Given the description of an element on the screen output the (x, y) to click on. 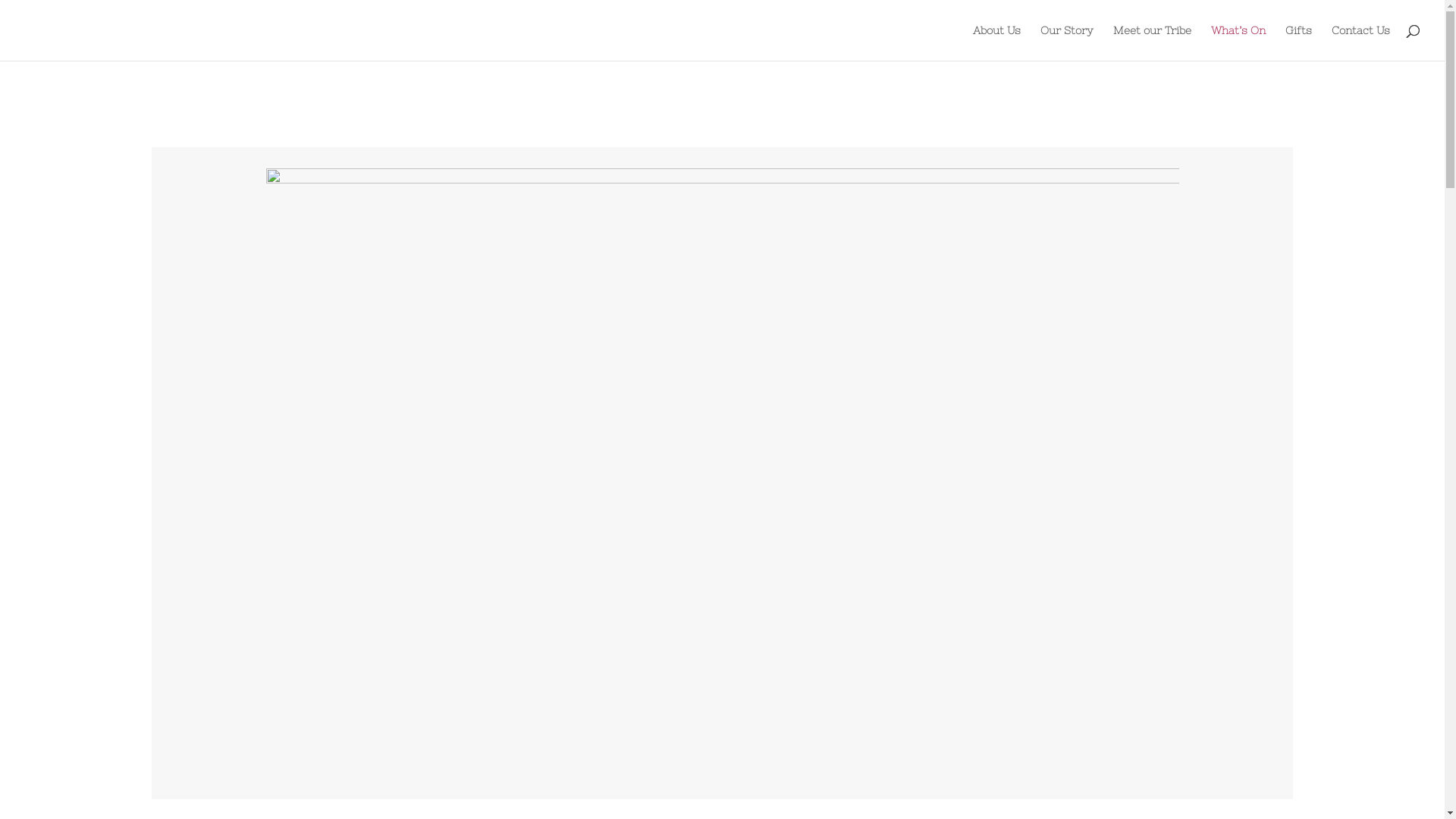
DSC_9843 Element type: hover (721, 471)
Our Story Element type: text (1066, 42)
About Us Element type: text (996, 42)
Contact Us Element type: text (1360, 42)
Meet our Tribe Element type: text (1152, 42)
Gifts Element type: text (1298, 42)
